Given the description of an element on the screen output the (x, y) to click on. 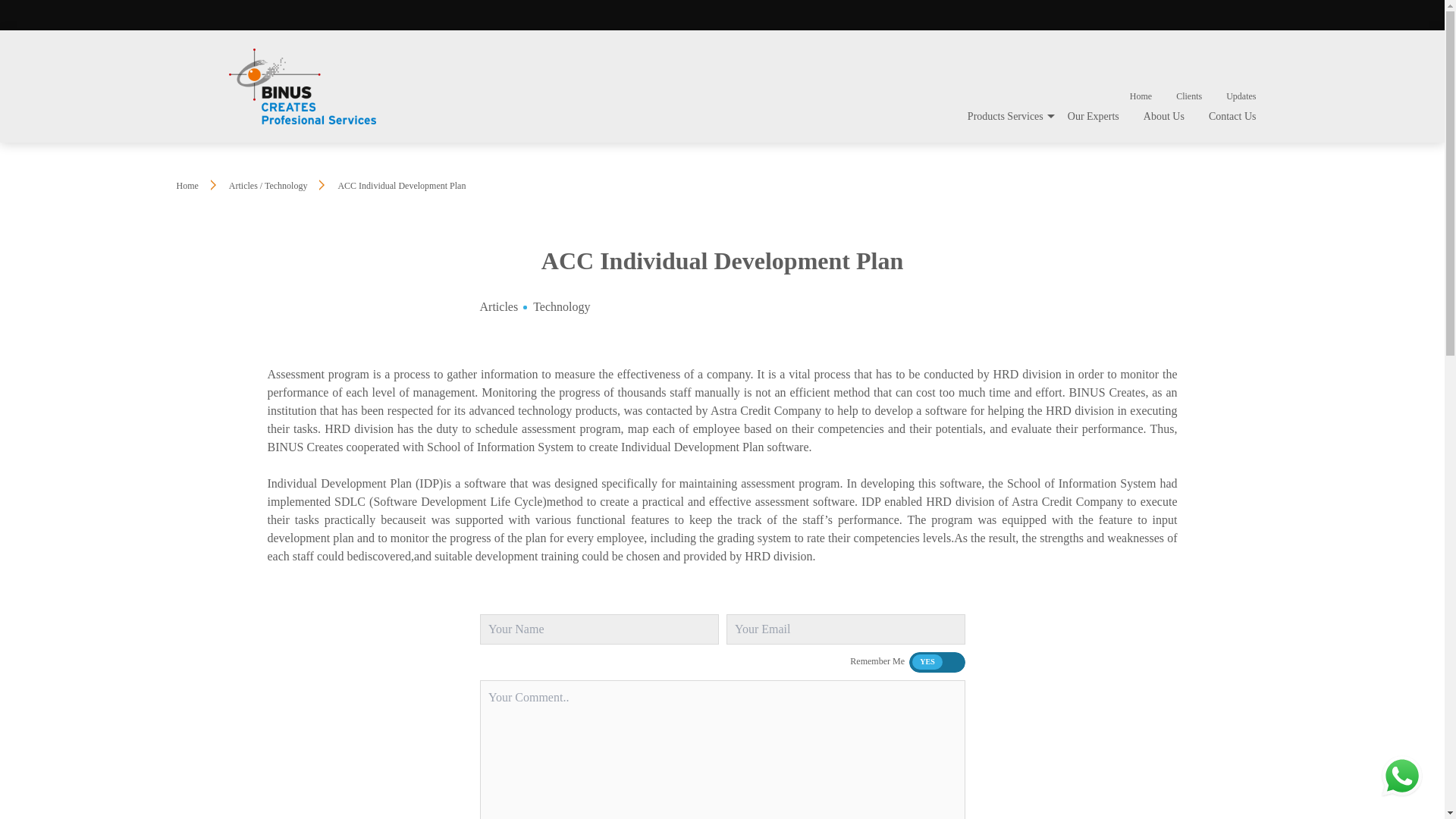
Updates (1240, 95)
Technology (560, 306)
Our Experts (1093, 116)
Home (187, 185)
Home (1140, 95)
Contact Us (1232, 116)
Articles (498, 306)
Clients (1189, 95)
About Us (1163, 116)
